Given the description of an element on the screen output the (x, y) to click on. 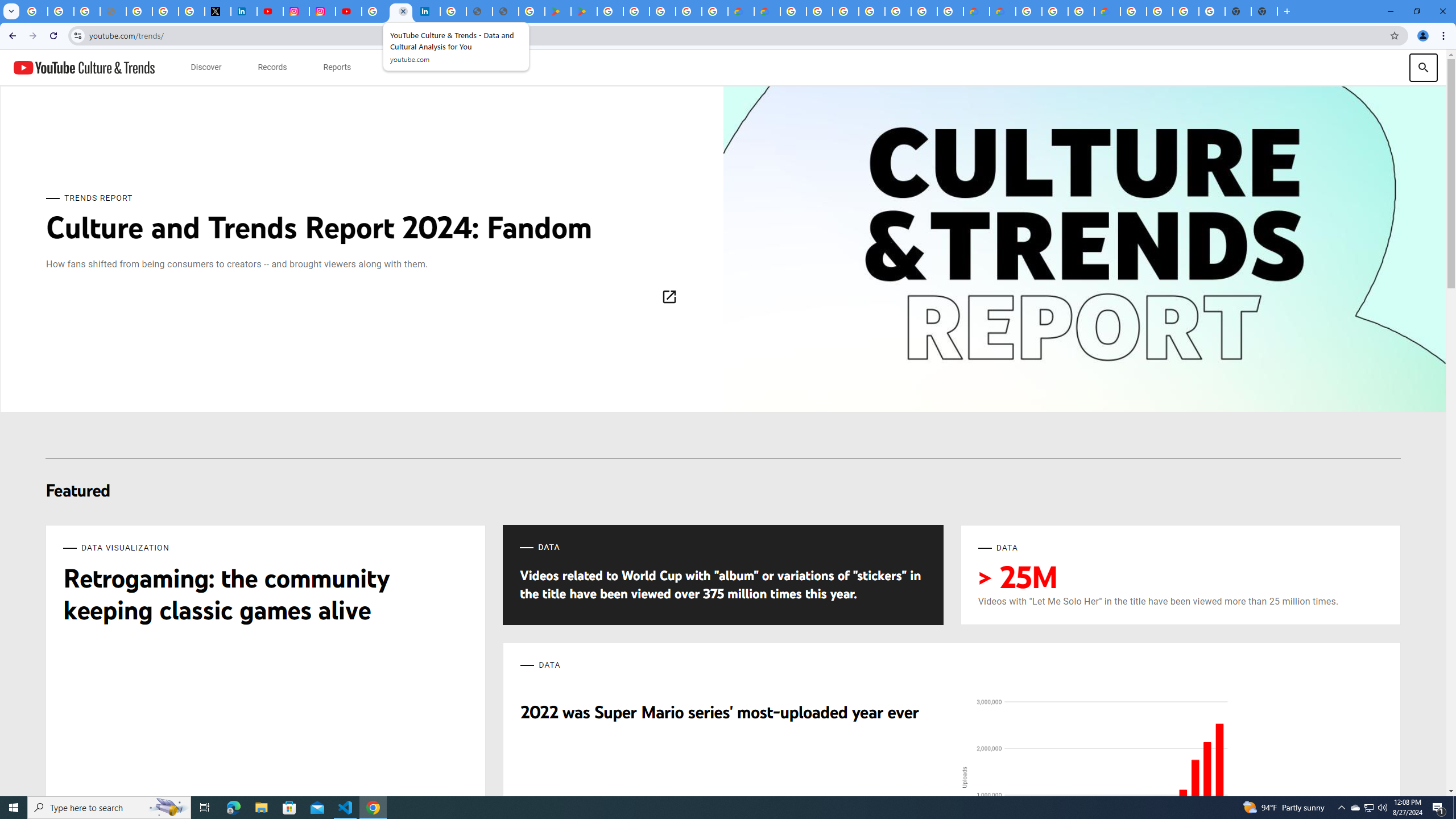
subnav-Discover menupopup (205, 67)
Google Cloud Platform (1133, 11)
Google Cloud Platform (923, 11)
subnav-Records menupopup (271, 67)
subnav-More menupopup (400, 67)
LinkedIn Privacy Policy (243, 11)
New Tab (1264, 11)
Google Cloud Estimate Summary (1002, 11)
subnav-Discover menupopup (205, 67)
Google Cloud Service Health (1107, 11)
